Given the description of an element on the screen output the (x, y) to click on. 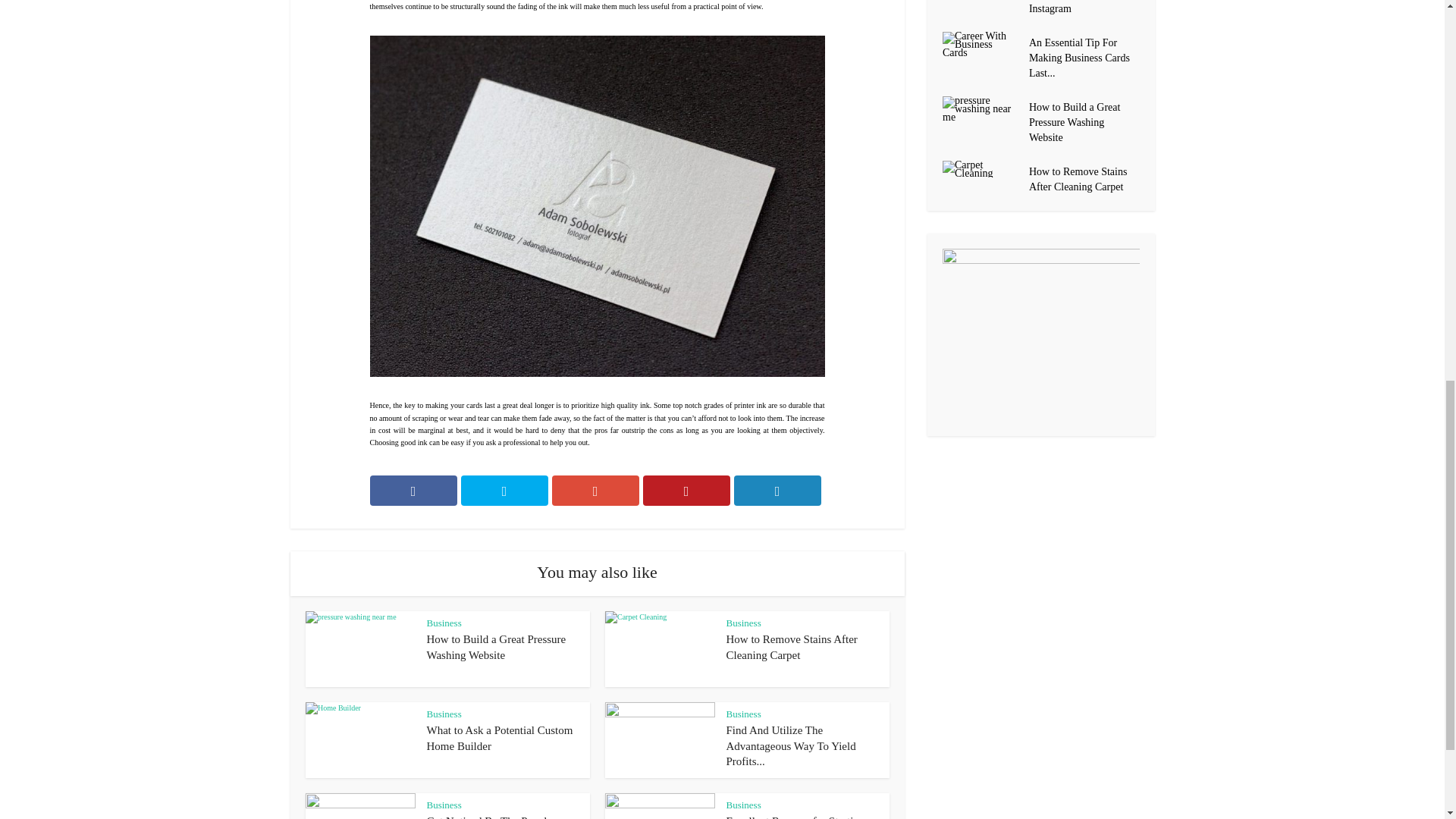
Business (443, 622)
How to Remove Stains After Cleaning Carpet (791, 646)
Business (743, 804)
What to Ask a Potential Custom Home Builder (499, 737)
Business (443, 804)
Business (443, 713)
Business (743, 622)
How to Build a Great Pressure Washing Website (496, 646)
